Given the description of an element on the screen output the (x, y) to click on. 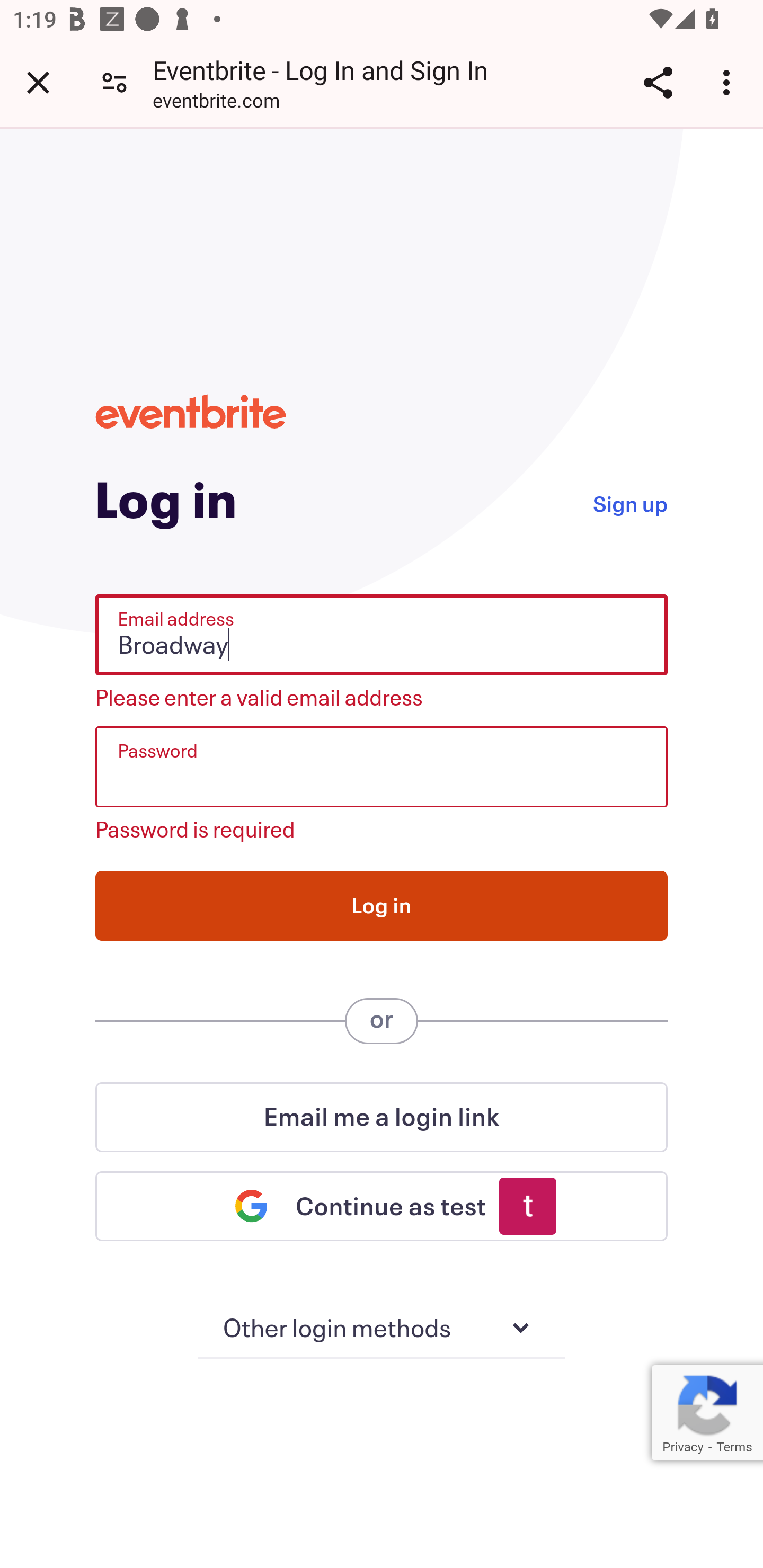
Close tab (38, 82)
Share (657, 82)
Customize and control Google Chrome (729, 82)
Connection is secure (114, 81)
eventbrite.com (216, 103)
www.eventbrite (190, 411)
Sign up (629, 502)
Broadway (381, 634)
Log in (381, 905)
Email me a login link (381, 1116)
Other login methods Toggle Content (381, 1328)
Privacy (682, 1447)
Terms (734, 1447)
